Given the description of an element on the screen output the (x, y) to click on. 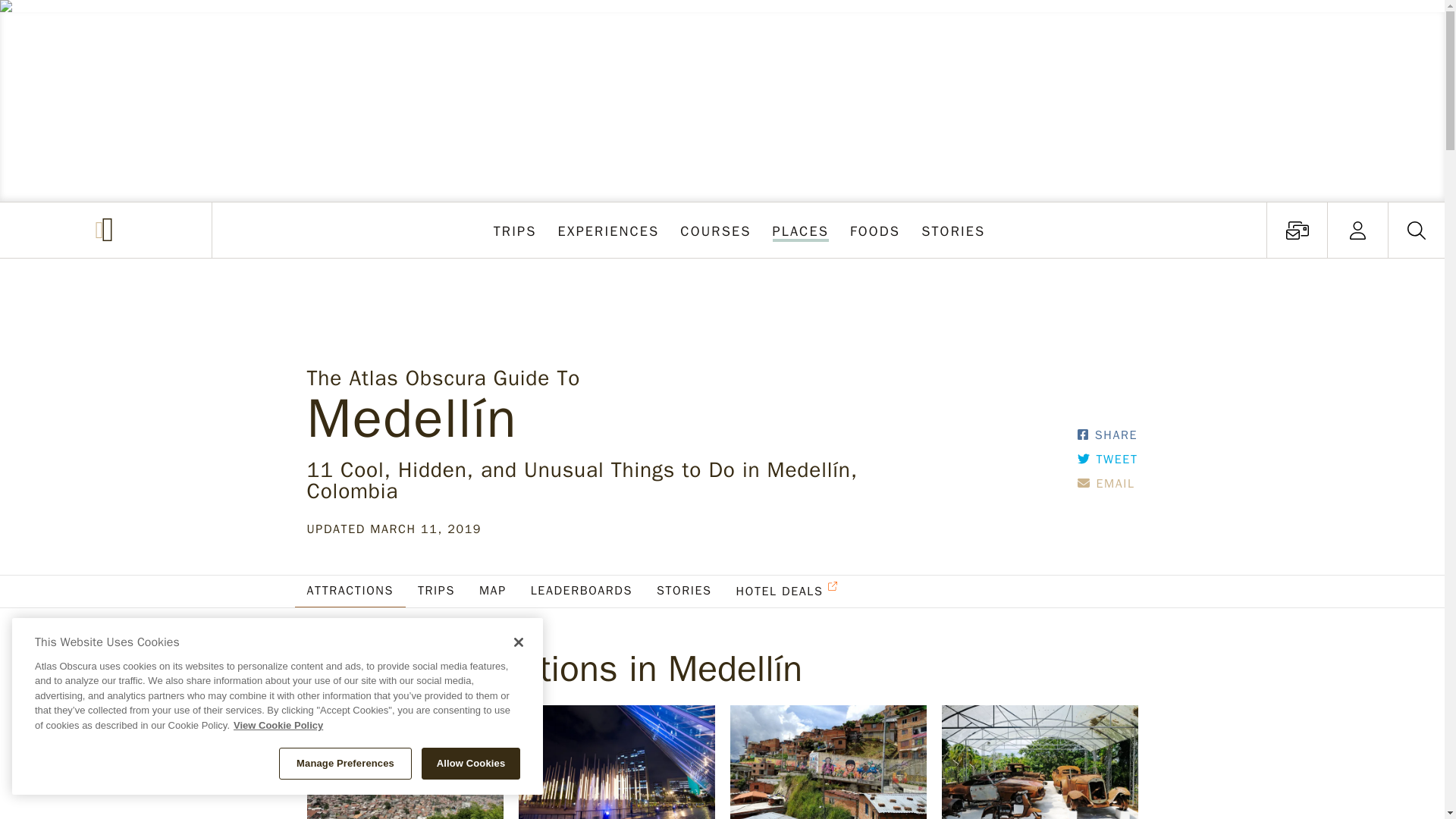
PLACES (799, 229)
Sign In (1357, 230)
FOODS (874, 229)
EXPERIENCES (608, 229)
COURSES (715, 229)
TRIPS (1296, 229)
View all newsletters (1356, 229)
STORIES (515, 229)
